Given the description of an element on the screen output the (x, y) to click on. 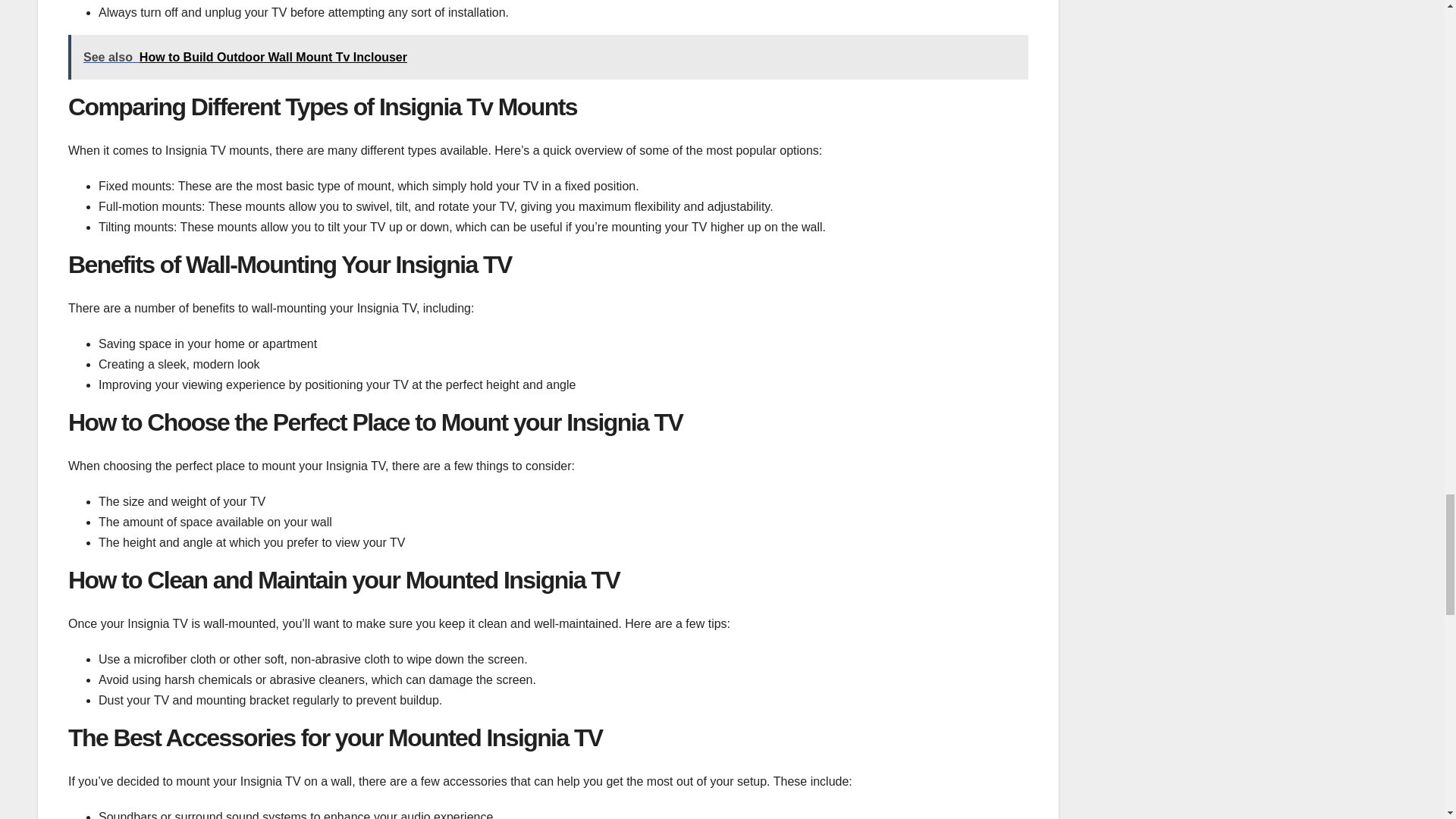
See also  How to Build Outdoor Wall Mount Tv Inclouser (547, 57)
